Given the description of an element on the screen output the (x, y) to click on. 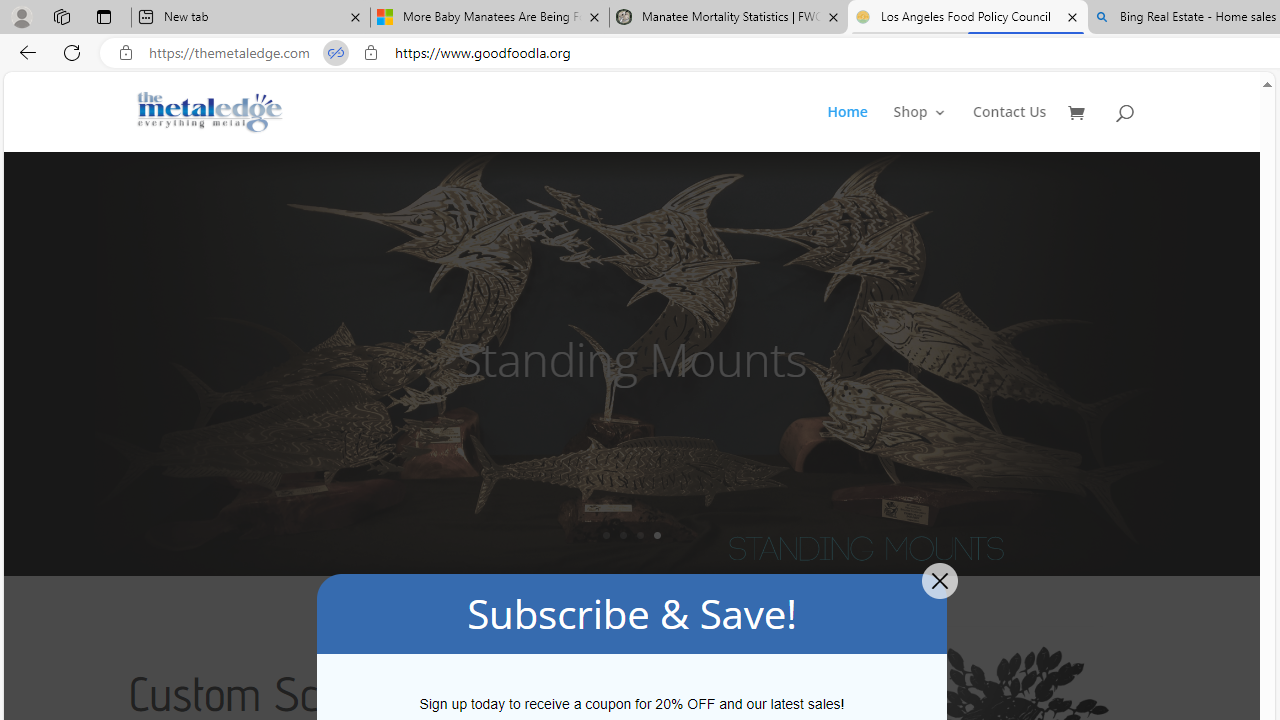
Workspaces (61, 16)
Tab actions menu (104, 16)
2 (623, 535)
Shop3 (931, 128)
Contact Us (1009, 128)
Close tab (1072, 16)
1 (606, 535)
4 (657, 535)
Home (857, 128)
Home (846, 128)
Personal Profile (21, 16)
View site information (370, 53)
Contact Us (1009, 128)
Los Angeles Food Policy Council (967, 17)
